Given the description of an element on the screen output the (x, y) to click on. 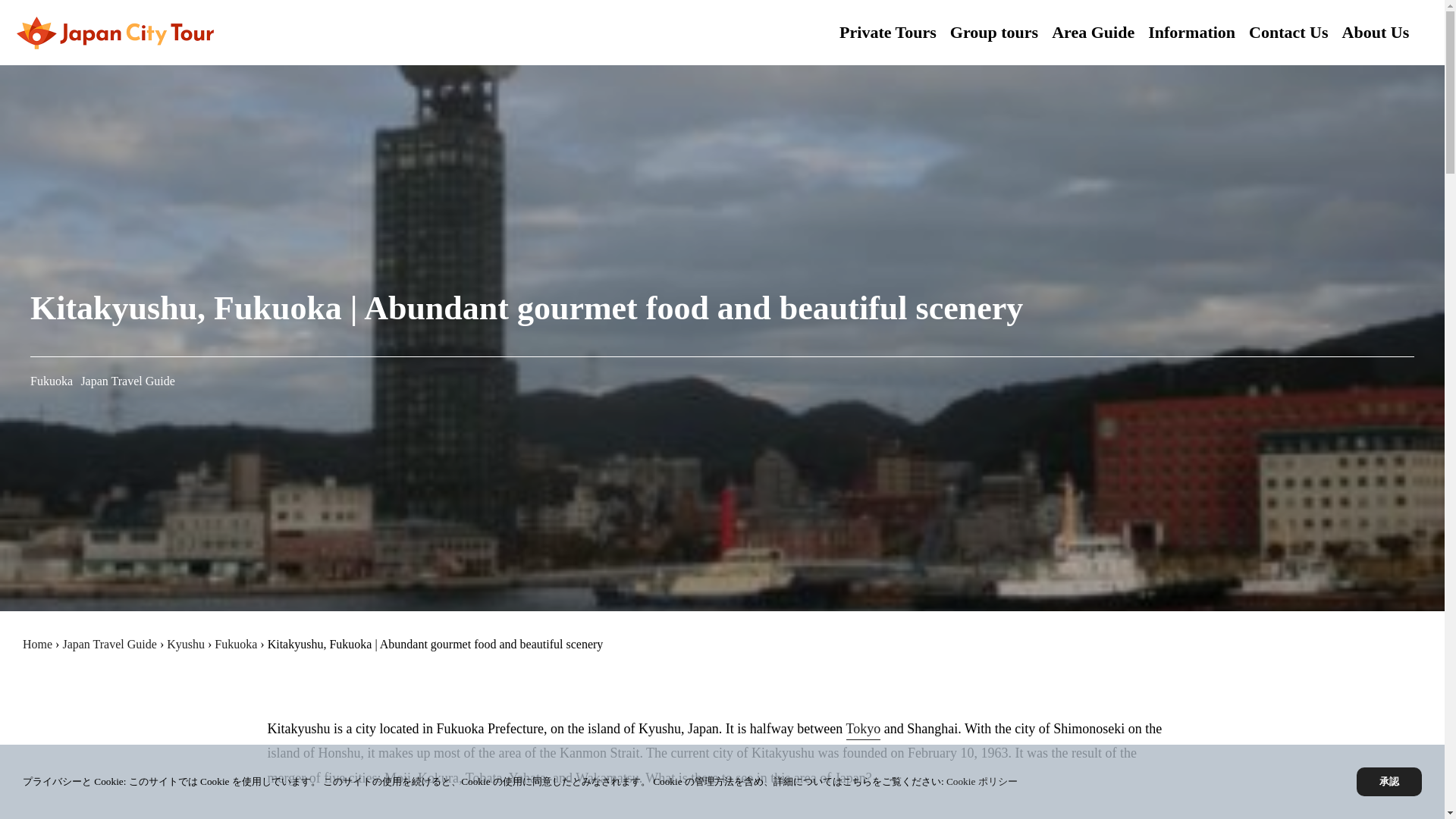
Private Tours (888, 32)
Fukuoka (235, 644)
Japan Travel Guide (108, 644)
Group tours (994, 32)
Tokyo (862, 730)
Home (37, 644)
Kyushu (186, 644)
Japan Travel Guide (108, 644)
Kyushu (186, 644)
Japan Travel Guide (127, 380)
